Given the description of an element on the screen output the (x, y) to click on. 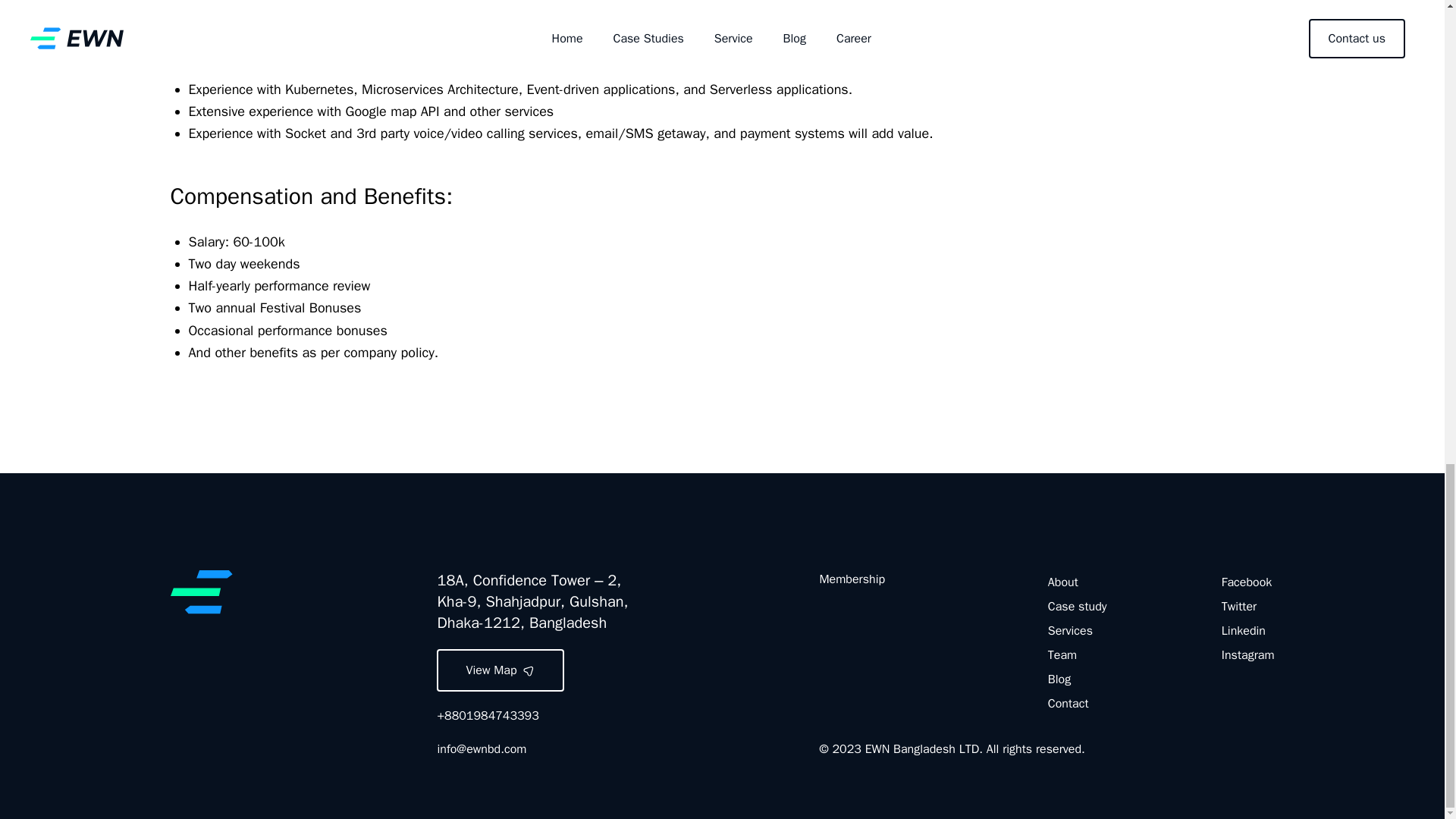
Facebook (1246, 581)
Case study (1077, 606)
Linkedin (1243, 630)
Blog (1059, 679)
Contact (1068, 703)
Team (1062, 654)
About (1063, 581)
Twitter (1238, 606)
Services (1070, 630)
View Map (499, 670)
Instagram (1248, 654)
